Given the description of an element on the screen output the (x, y) to click on. 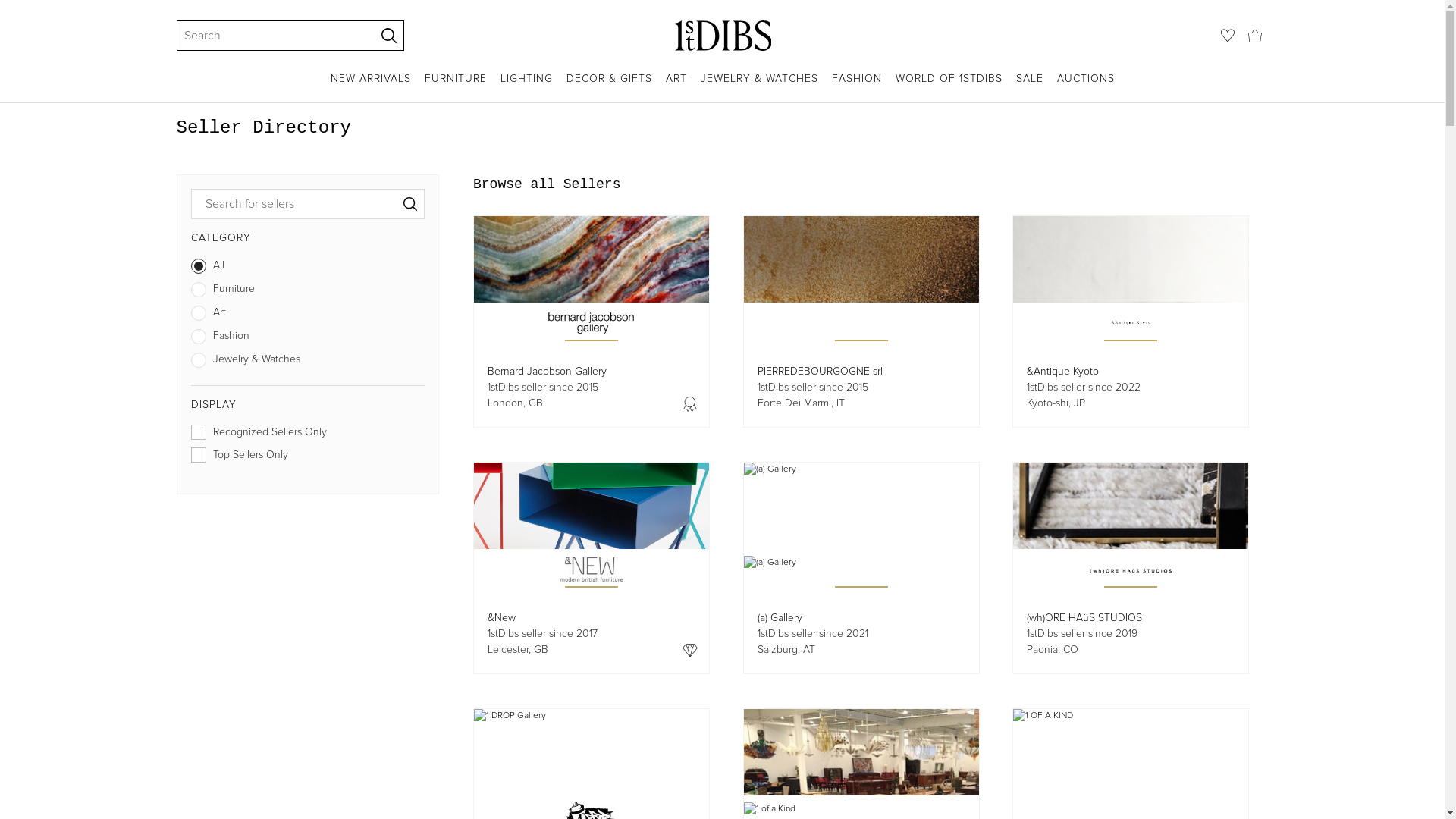
PIERREDEBOURGOGNE srl Element type: text (818, 370)
All Element type: text (308, 268)
DECOR & GIFTS Element type: text (608, 86)
Fashion Element type: text (308, 339)
AUCTIONS Element type: text (1085, 86)
&New Element type: text (501, 617)
FURNITURE Element type: text (455, 86)
JEWELRY & WATCHES Element type: text (759, 86)
WORLD OF 1STDIBS Element type: text (947, 86)
(a) Gallery Element type: text (778, 617)
Jewelry & Watches Element type: text (308, 362)
Furniture Element type: text (308, 292)
SKIP TO MAIN CONTENT Element type: text (6, 6)
&Antique Kyoto Element type: text (1062, 370)
LIGHTING Element type: text (526, 86)
Bernard Jacobson Gallery Element type: text (546, 370)
Top Sellers Only Element type: text (308, 457)
Art Element type: text (308, 315)
ART Element type: text (676, 86)
NEW ARRIVALS Element type: text (370, 86)
Search Element type: hover (268, 35)
FASHION Element type: text (856, 86)
SALE Element type: text (1029, 86)
Recognized Sellers Only Element type: text (308, 434)
